Given the description of an element on the screen output the (x, y) to click on. 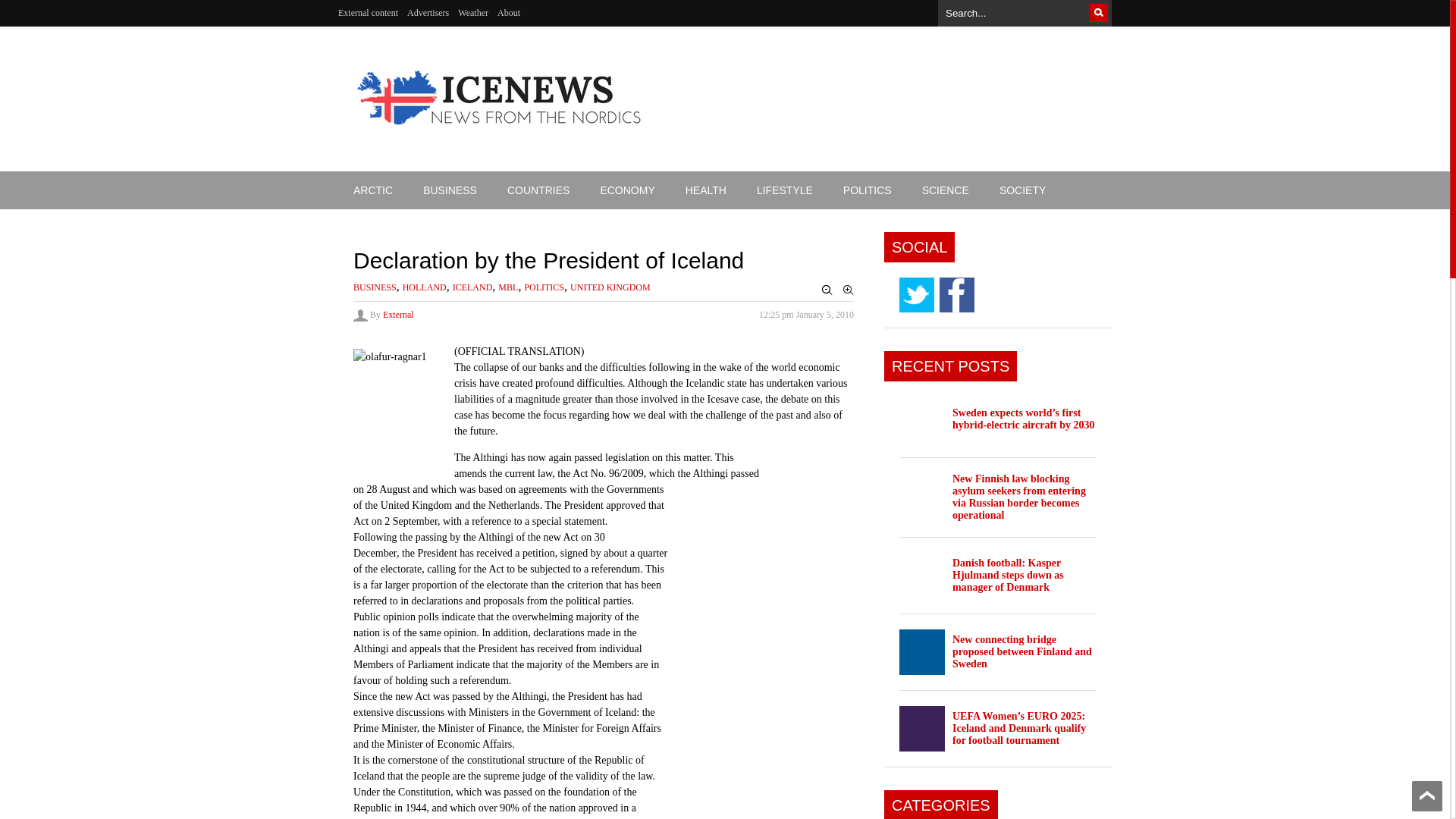
POLITICS (867, 190)
View all posts in Politics (544, 286)
Advertisers (427, 13)
Scroll (1427, 796)
Weather (472, 13)
Posts by External (397, 314)
Search... (1024, 9)
View all posts in Iceland (472, 286)
Zoom in post body text (848, 290)
View all posts in United Kingdom (610, 286)
IceNews - Daily News (499, 133)
HEALTH (705, 190)
COUNTRIES (538, 190)
View all posts in Holland (424, 286)
LIFESTYLE (784, 190)
